Given the description of an element on the screen output the (x, y) to click on. 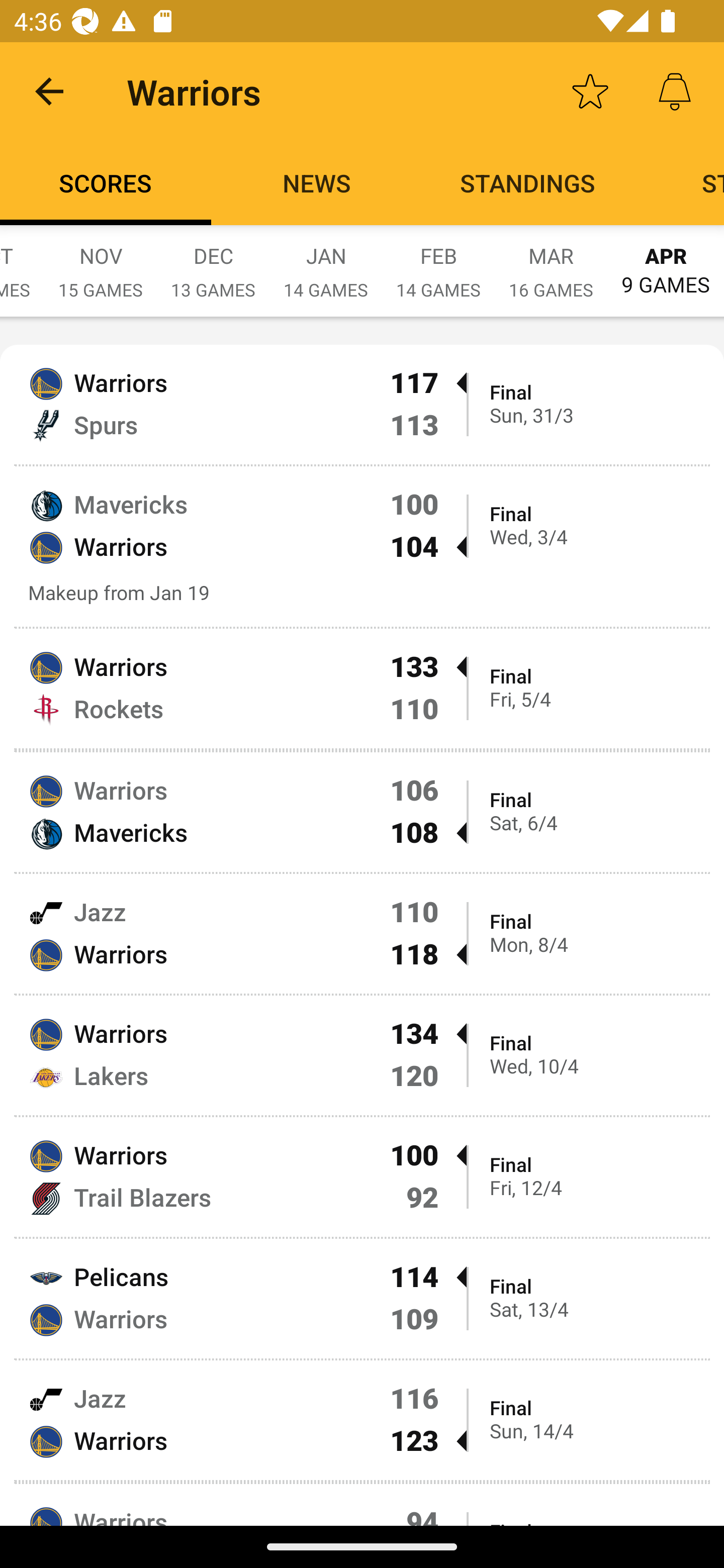
back.button (49, 90)
Favorite toggle (590, 90)
Alerts (674, 90)
News NEWS (316, 183)
Standings STANDINGS (527, 183)
NOV 15 GAMES (100, 262)
DEC 13 GAMES (213, 262)
JAN 14 GAMES (325, 262)
FEB 14 GAMES (438, 262)
MAR 16 GAMES (550, 262)
APR 9 GAMES (665, 261)
Warriors 117  Spurs 113 Final Sun, 31/3 (362, 404)
Warriors 133  Rockets 110 Final Fri, 5/4 (362, 687)
Warriors 106 Mavericks 108  Final Sat, 6/4 (362, 811)
Jazz 110 Warriors 118  Final Mon, 8/4 (362, 933)
Warriors 134  Lakers 120 Final Wed, 10/4 (362, 1054)
Warriors 100  Trail Blazers 92 Final Fri, 12/4 (362, 1176)
Pelicans 114  Warriors 109 Final Sat, 13/4 (362, 1297)
Jazz 116 Warriors 123  Final Sun, 14/4 (362, 1420)
